Given the description of an element on the screen output the (x, y) to click on. 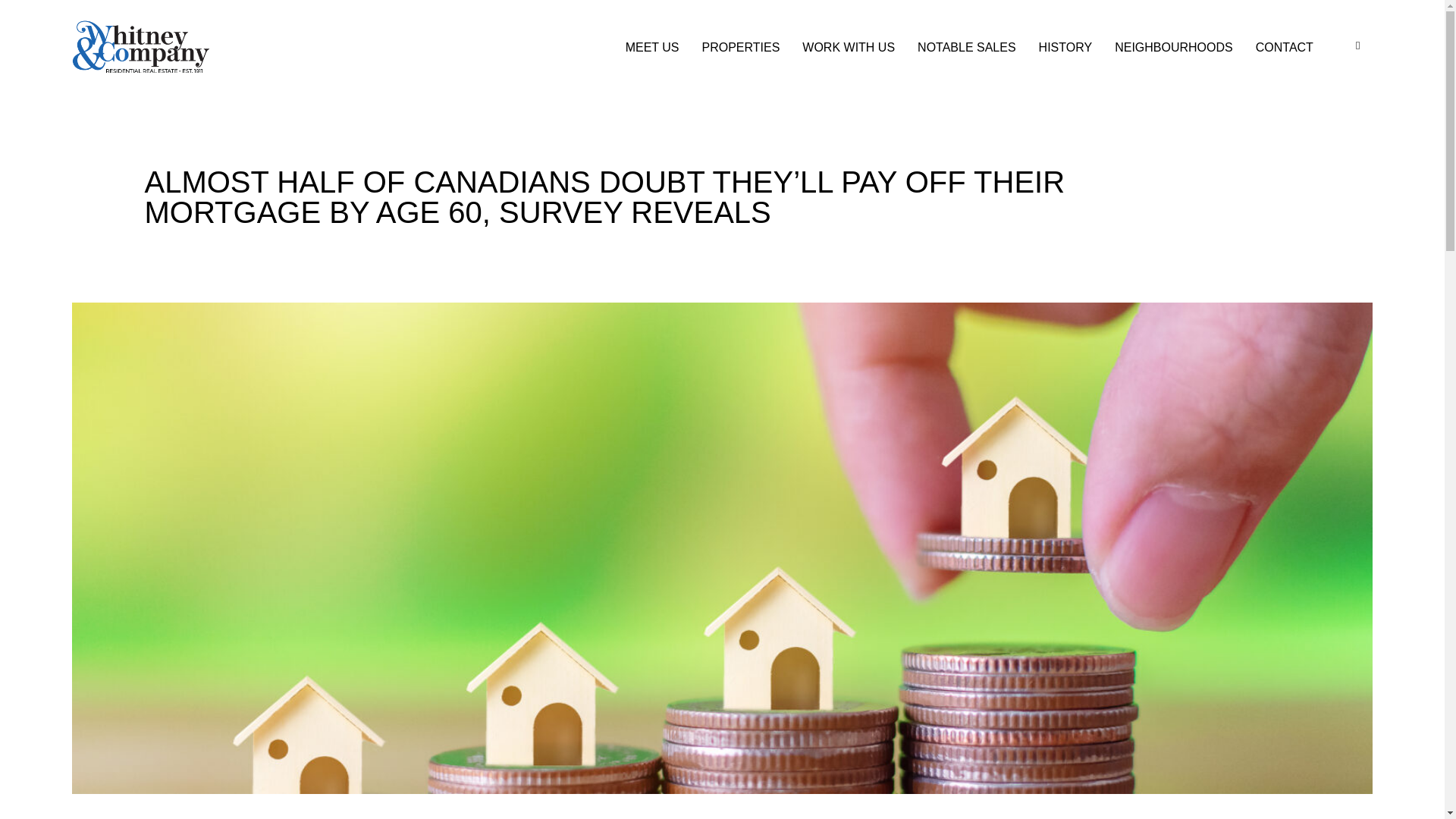
PROPERTIES (740, 47)
WORK WITH US (847, 47)
MEET US (652, 47)
CONTACT (1284, 47)
NOTABLE SALES (966, 47)
HISTORY (1065, 47)
NEIGHBOURHOODS (1173, 47)
